Given the description of an element on the screen output the (x, y) to click on. 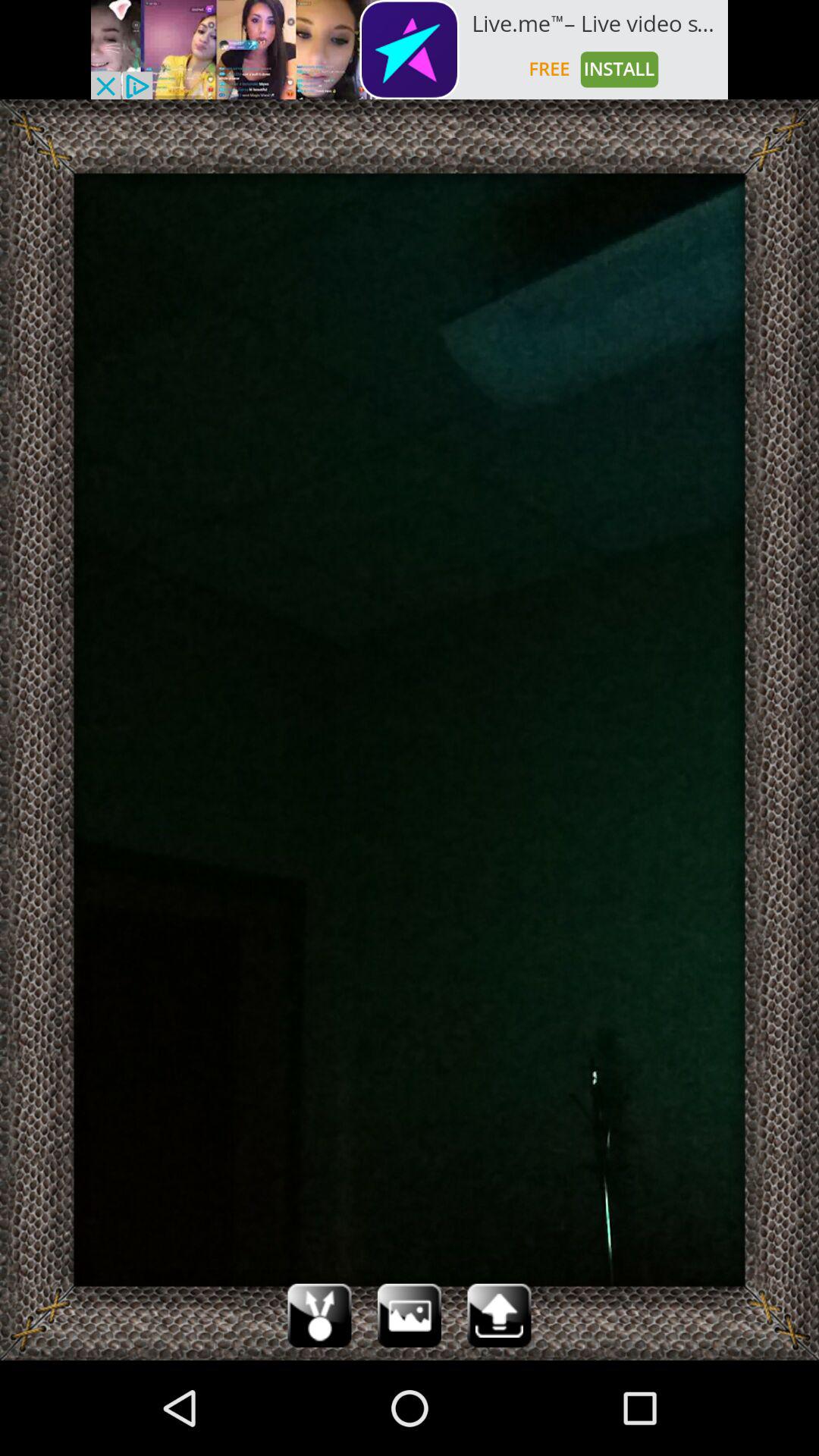
advertisement link (409, 49)
